Given the description of an element on the screen output the (x, y) to click on. 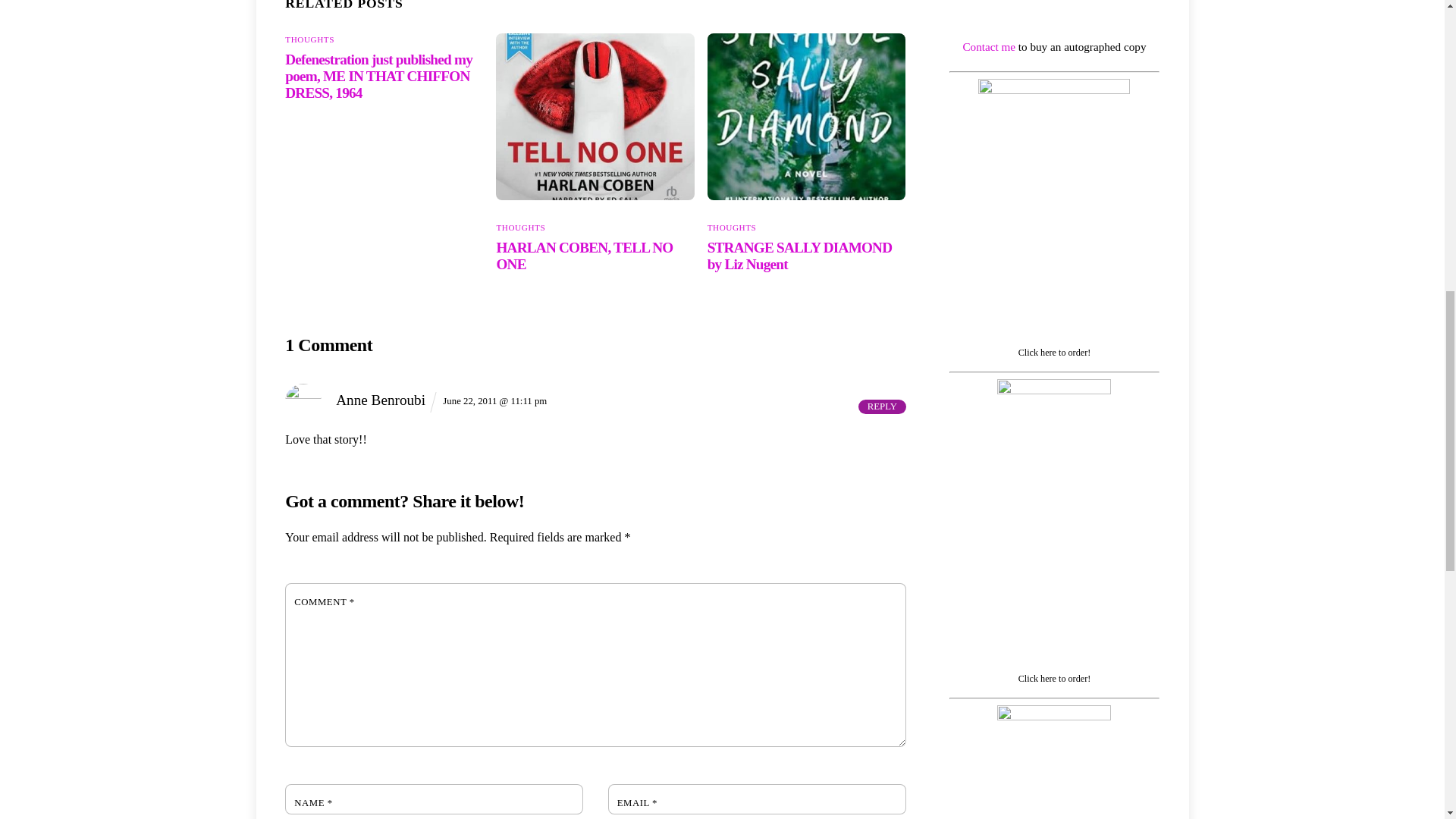
REPLY (882, 406)
THOUGHTS (309, 39)
HARLAN COBEN, TELL NO ONE (584, 255)
STRANGE SALLY DIAMOND by Liz Nugent (806, 116)
Contact me (988, 46)
THOUGHTS (520, 226)
STRANGE SALLY DIAMOND by Liz Nugent (799, 255)
HARLAN COBEN, TELL NO ONE (595, 116)
THOUGHTS (732, 226)
